Given the description of an element on the screen output the (x, y) to click on. 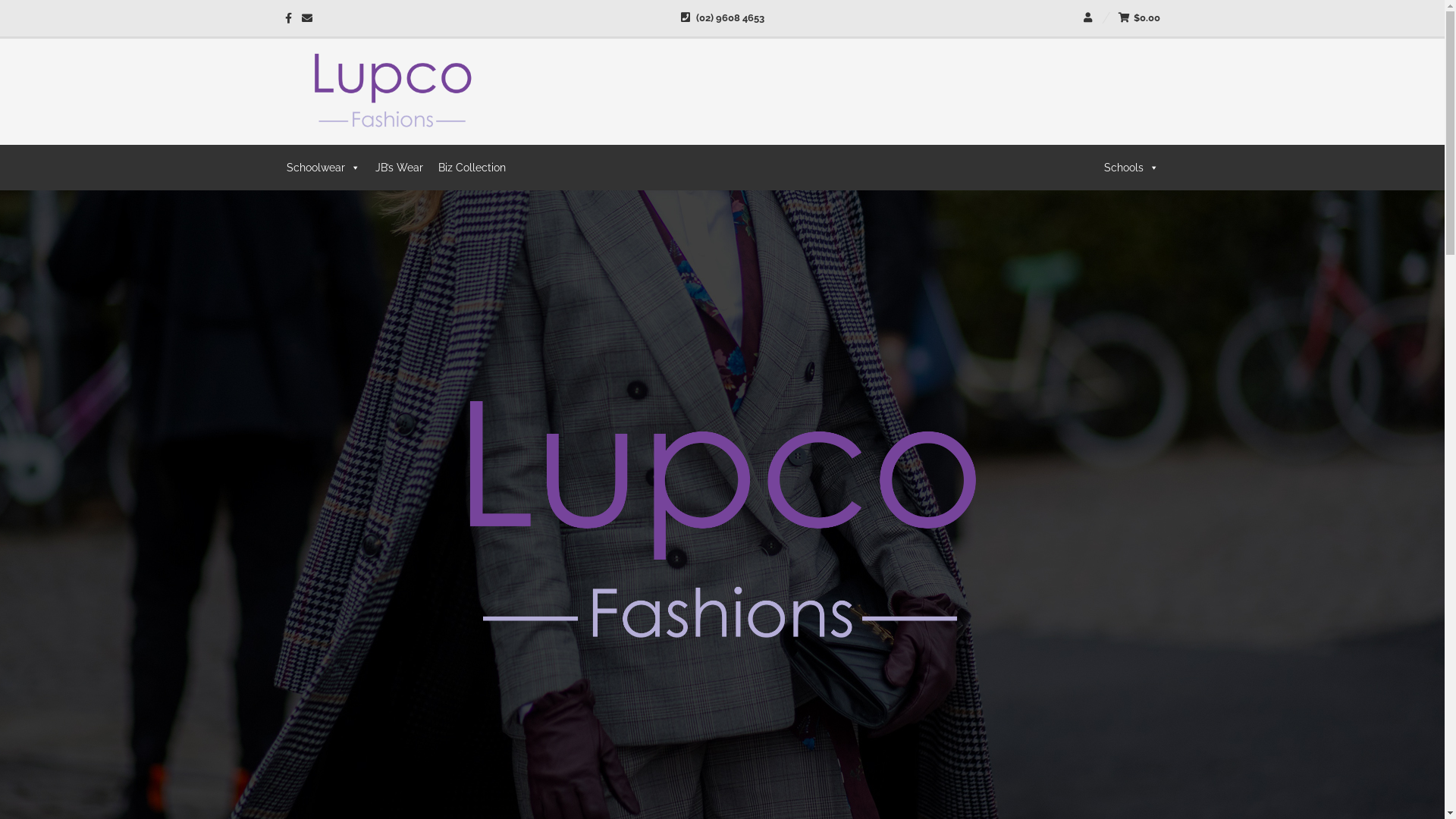
Biz Collection Element type: text (471, 167)
Schoolwear Element type: text (323, 167)
Schools Element type: text (1131, 167)
